Given the description of an element on the screen output the (x, y) to click on. 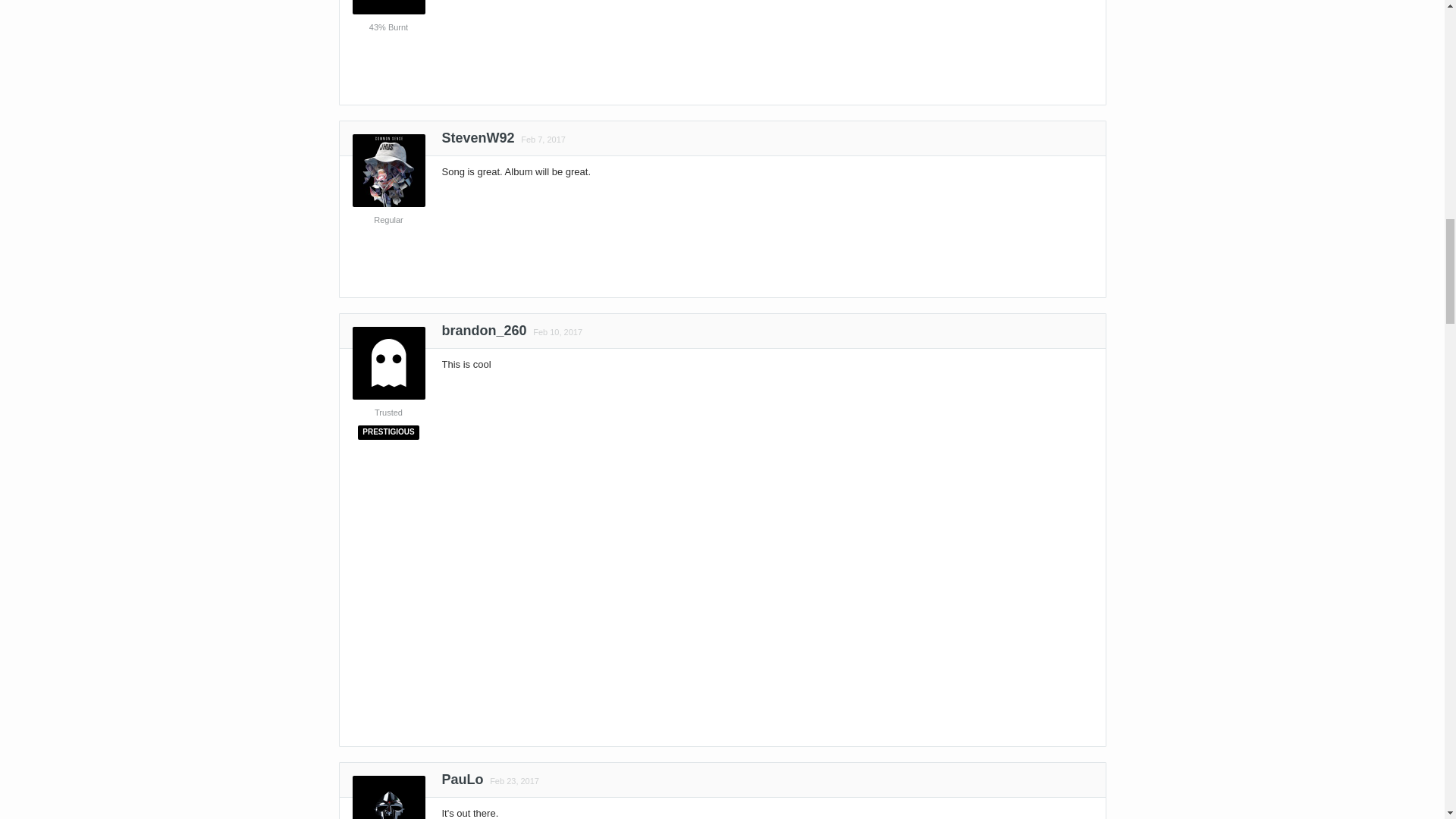
Feb 7, 2017 (541, 139)
Feb 10, 2017 (555, 331)
Permalink (541, 139)
StevenW92 (477, 141)
Feb 7, 2017 at 4:48 AM (543, 139)
